Given the description of an element on the screen output the (x, y) to click on. 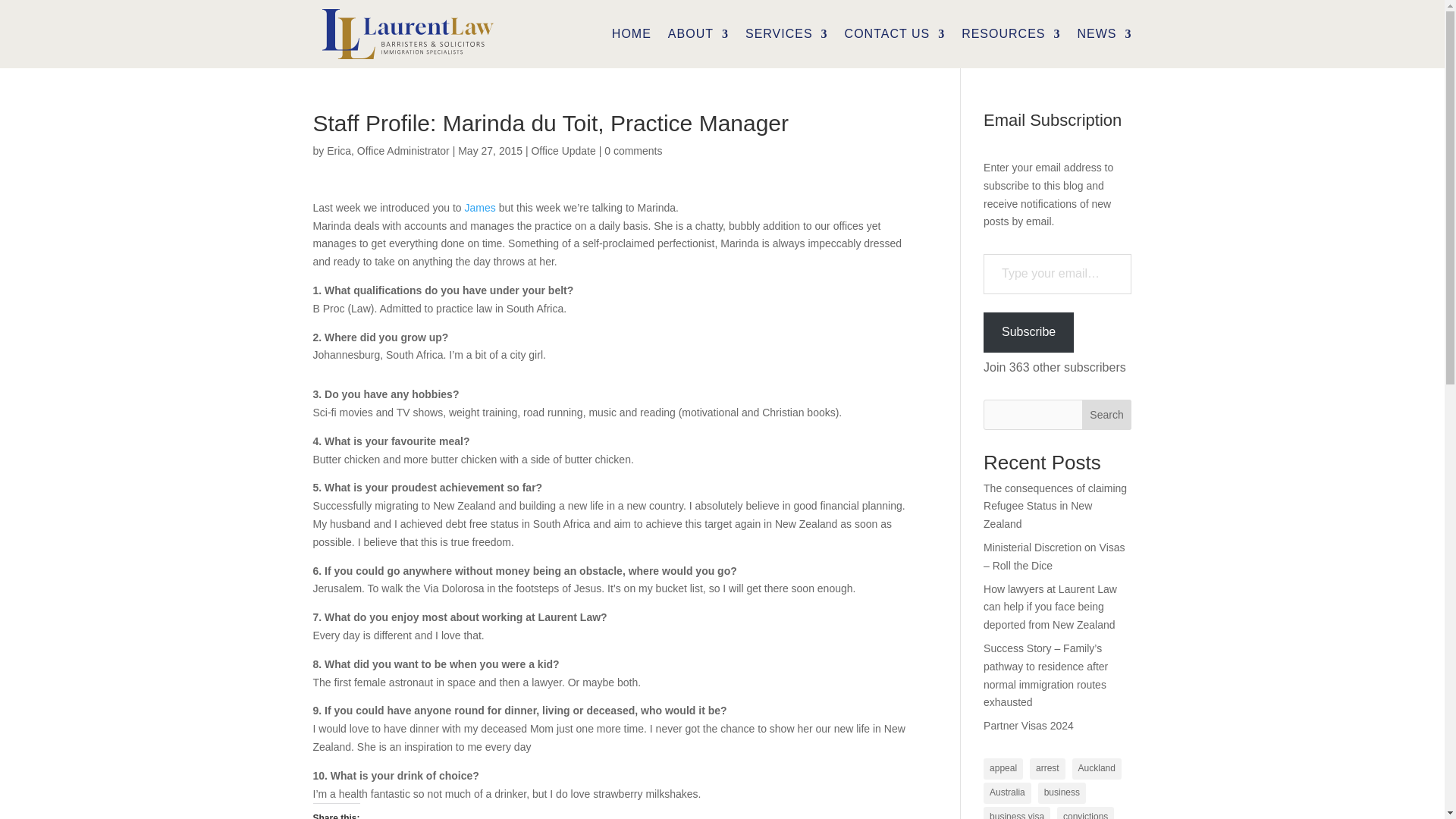
ABOUT (698, 33)
Posts by Erica, Office Administrator (387, 150)
RESOURCES (1009, 33)
Please fill in this field. (1057, 273)
SERVICES (786, 33)
CONTACT US (894, 33)
